Given the description of an element on the screen output the (x, y) to click on. 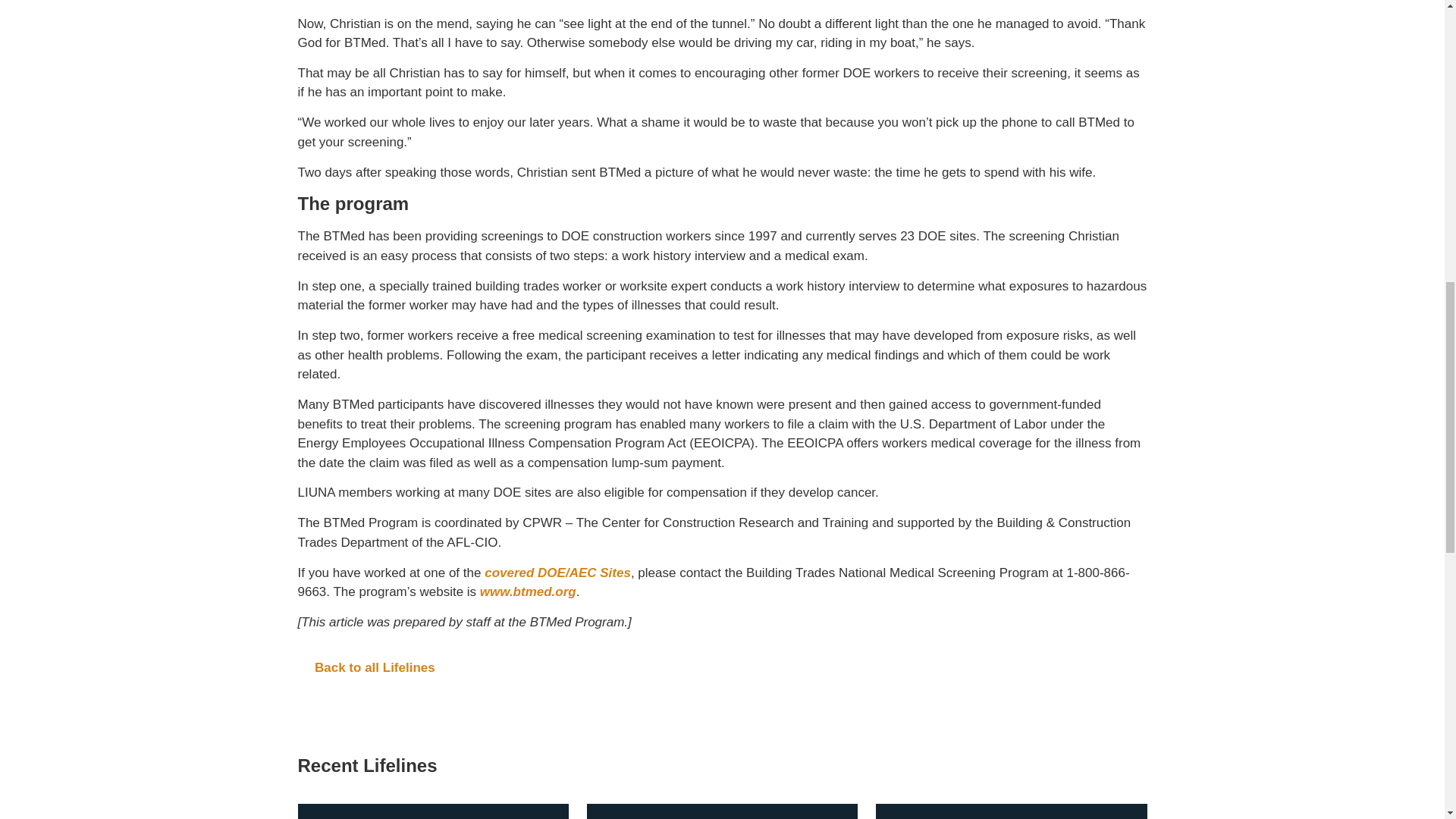
Back to all Lifelines (722, 668)
www.btmed.org (528, 591)
